Given the description of an element on the screen output the (x, y) to click on. 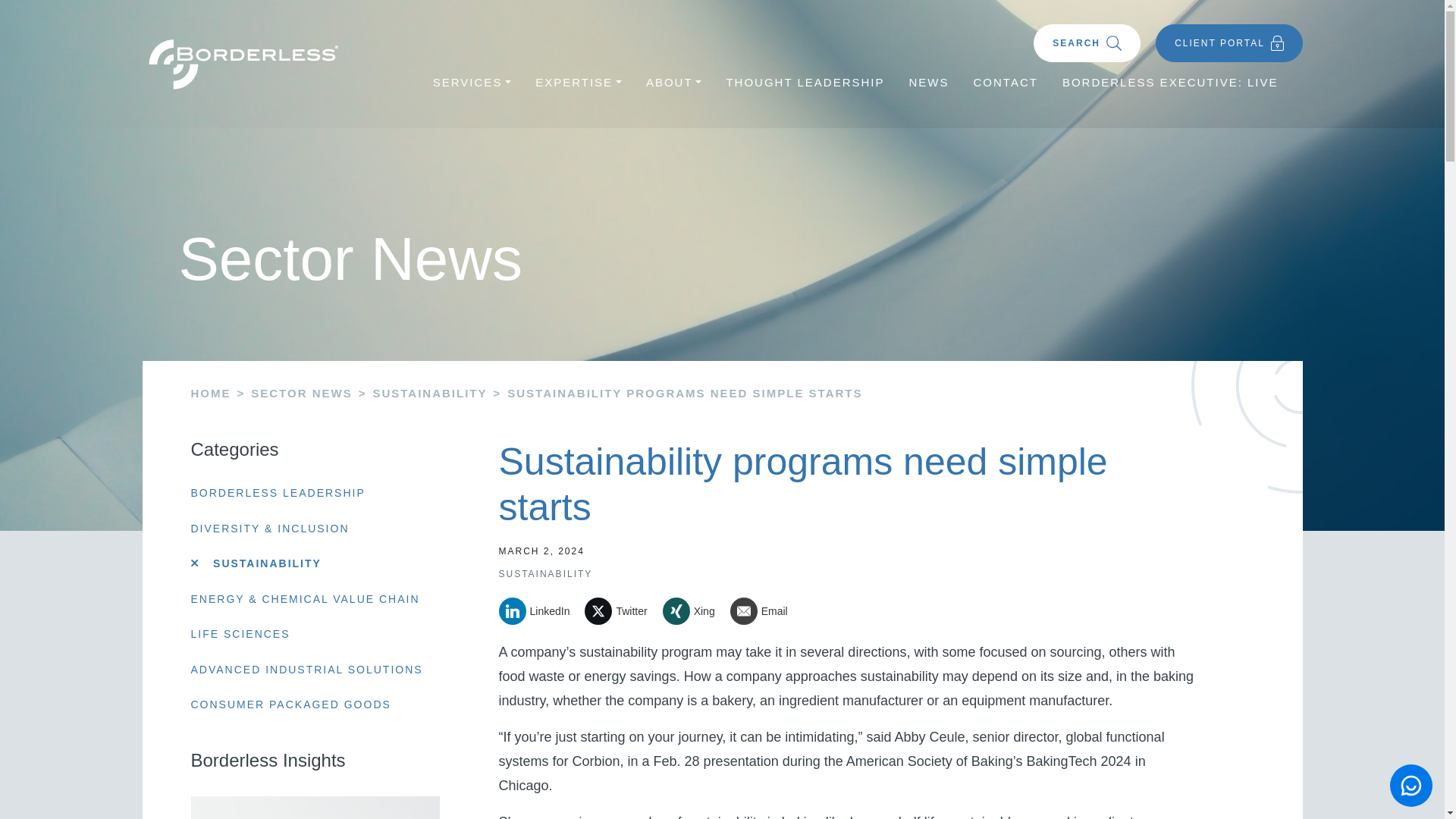
Share on LinkedIn (539, 610)
SECTOR NEWS (301, 392)
SERVICES (471, 82)
LIFE SCIENCES (239, 634)
BORDERLESS LEADERSHIP (277, 493)
NEWS (928, 82)
CLIENT PORTAL (1228, 43)
Go to Sector News. (301, 392)
Share on Email (764, 610)
Twitter (621, 610)
LinkedIn (539, 610)
HOME (210, 392)
Email (764, 610)
Share on Xing (694, 610)
Go to Borderless. (210, 392)
